Given the description of an element on the screen output the (x, y) to click on. 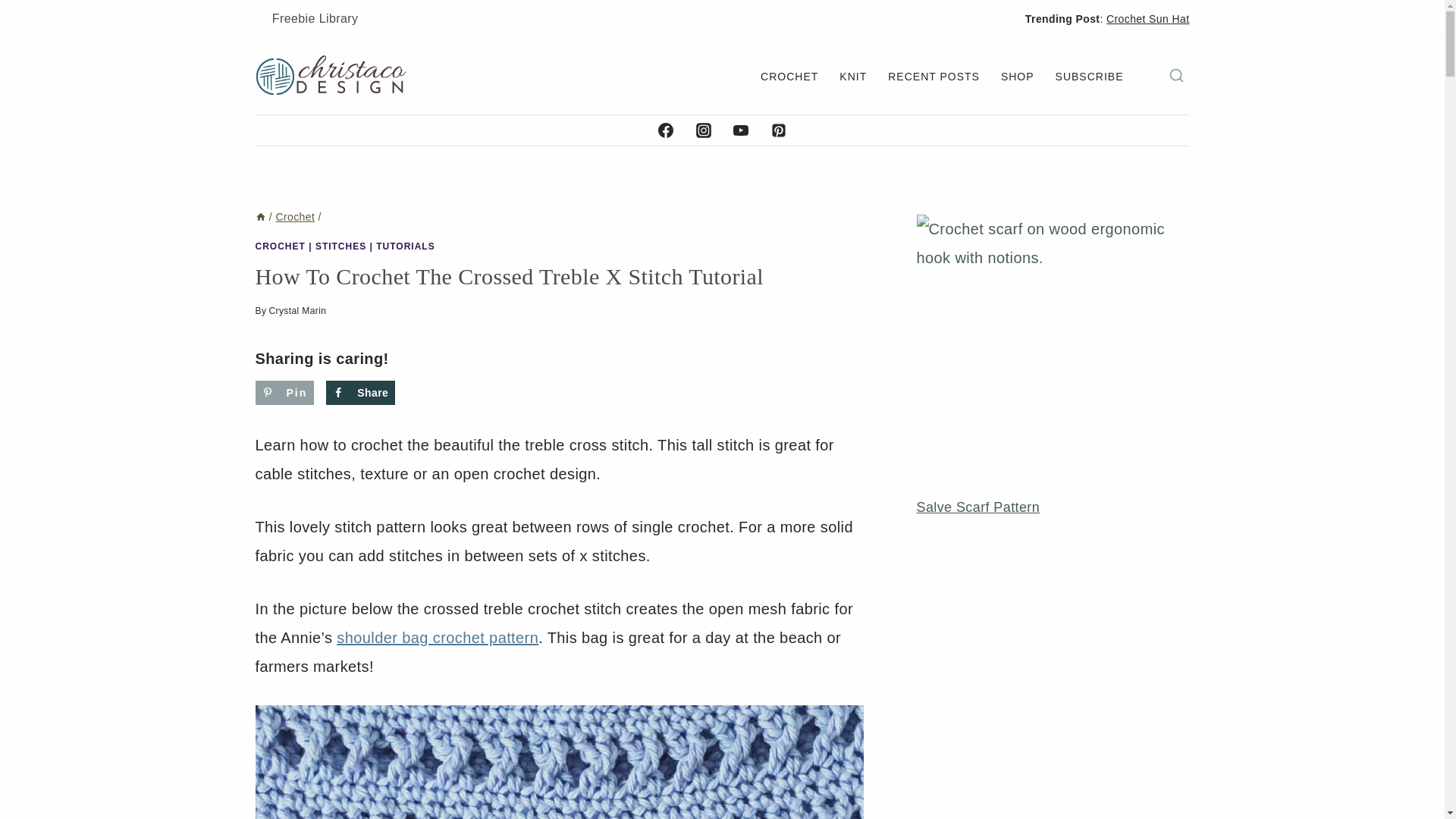
Share on Facebook (360, 392)
Crystal Marin (296, 310)
STITCHES (340, 245)
SHOP (1017, 76)
Crochet (294, 216)
Share (360, 392)
KNIT (852, 76)
RECENT POSTS (933, 76)
Pin (284, 392)
Freebie Library (314, 18)
